Given the description of an element on the screen output the (x, y) to click on. 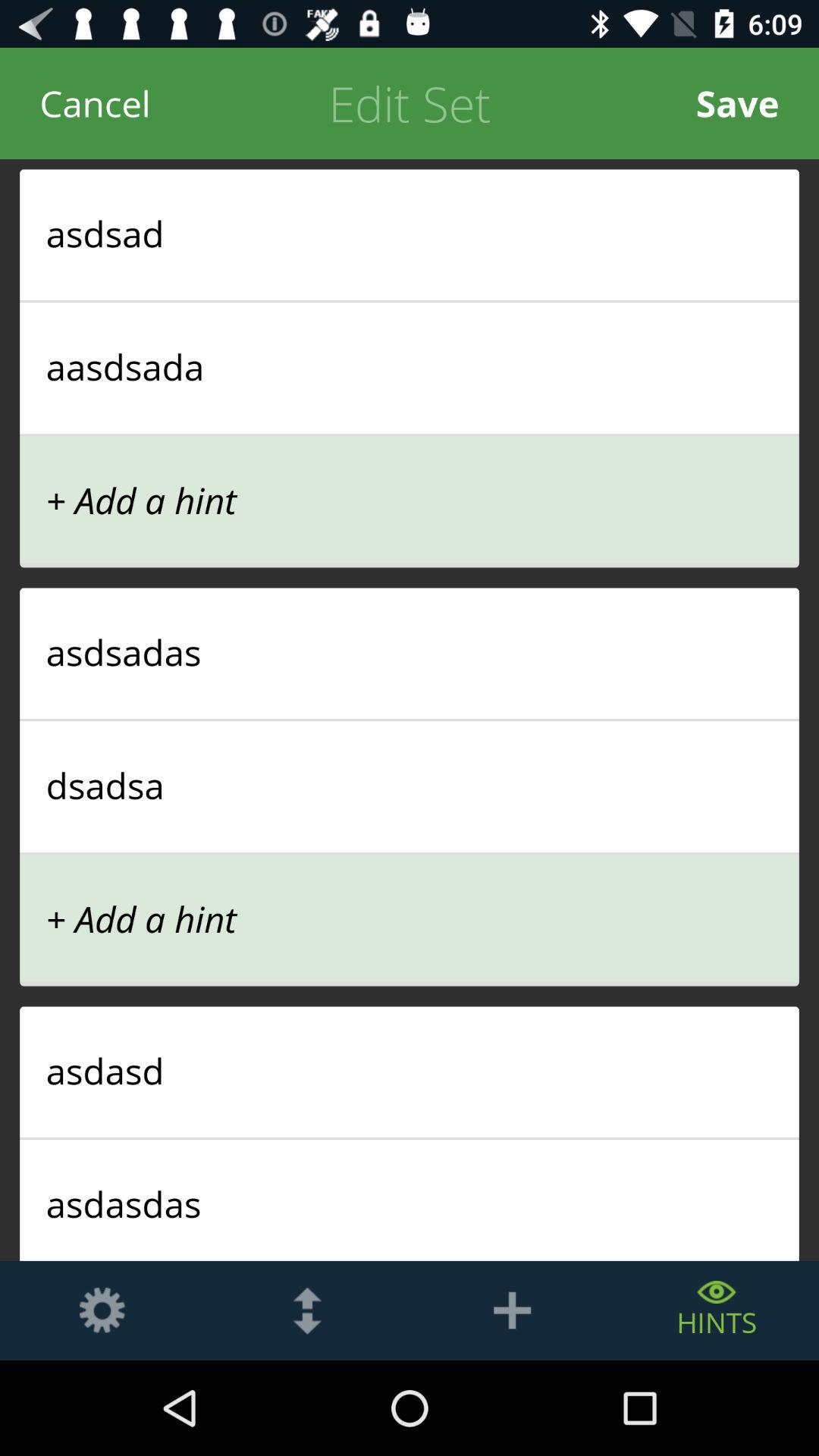
open the asdasdas item (409, 1203)
